Given the description of an element on the screen output the (x, y) to click on. 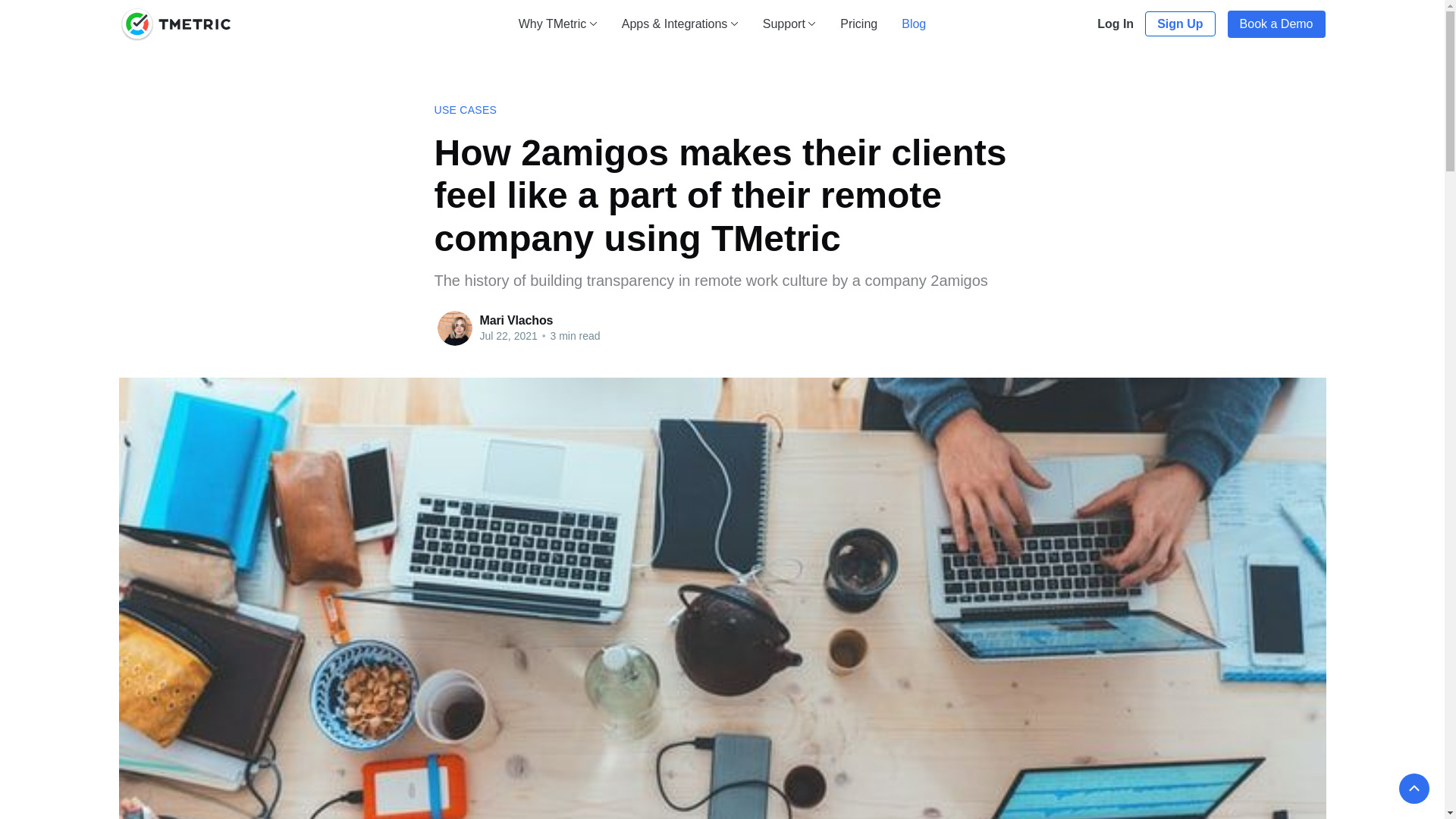
Book a Demo (1275, 23)
Mari Vlachos (516, 319)
Pricing (858, 23)
Blog (913, 23)
USE CASES (464, 110)
Support (789, 23)
Sign Up (1179, 23)
Why TMetric (557, 23)
Log In (1115, 24)
